Given the description of an element on the screen output the (x, y) to click on. 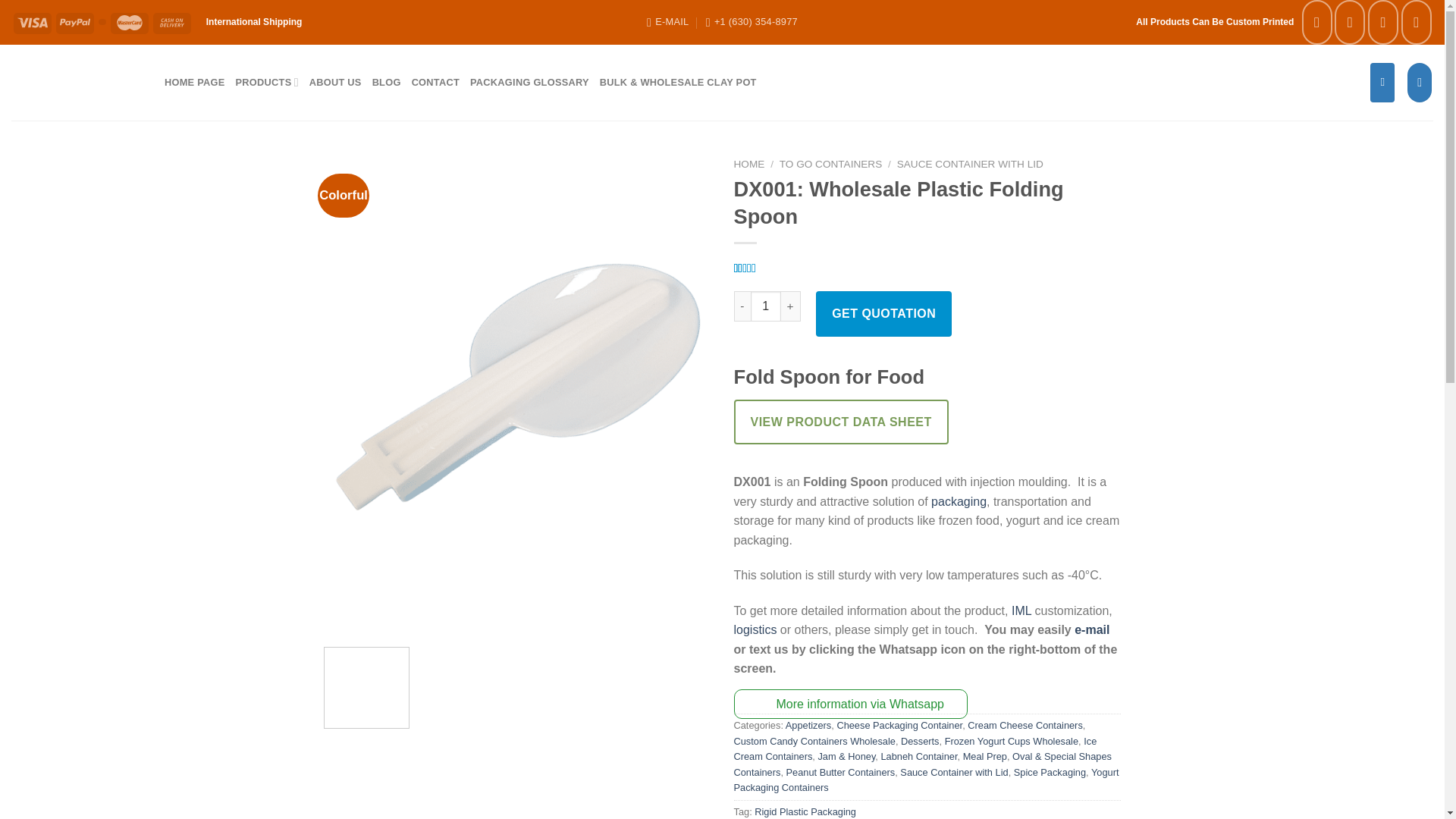
Qty (765, 306)
PRODUCTS (266, 82)
HOME PAGE (194, 82)
E-MAIL (667, 21)
1 (765, 306)
